Given the description of an element on the screen output the (x, y) to click on. 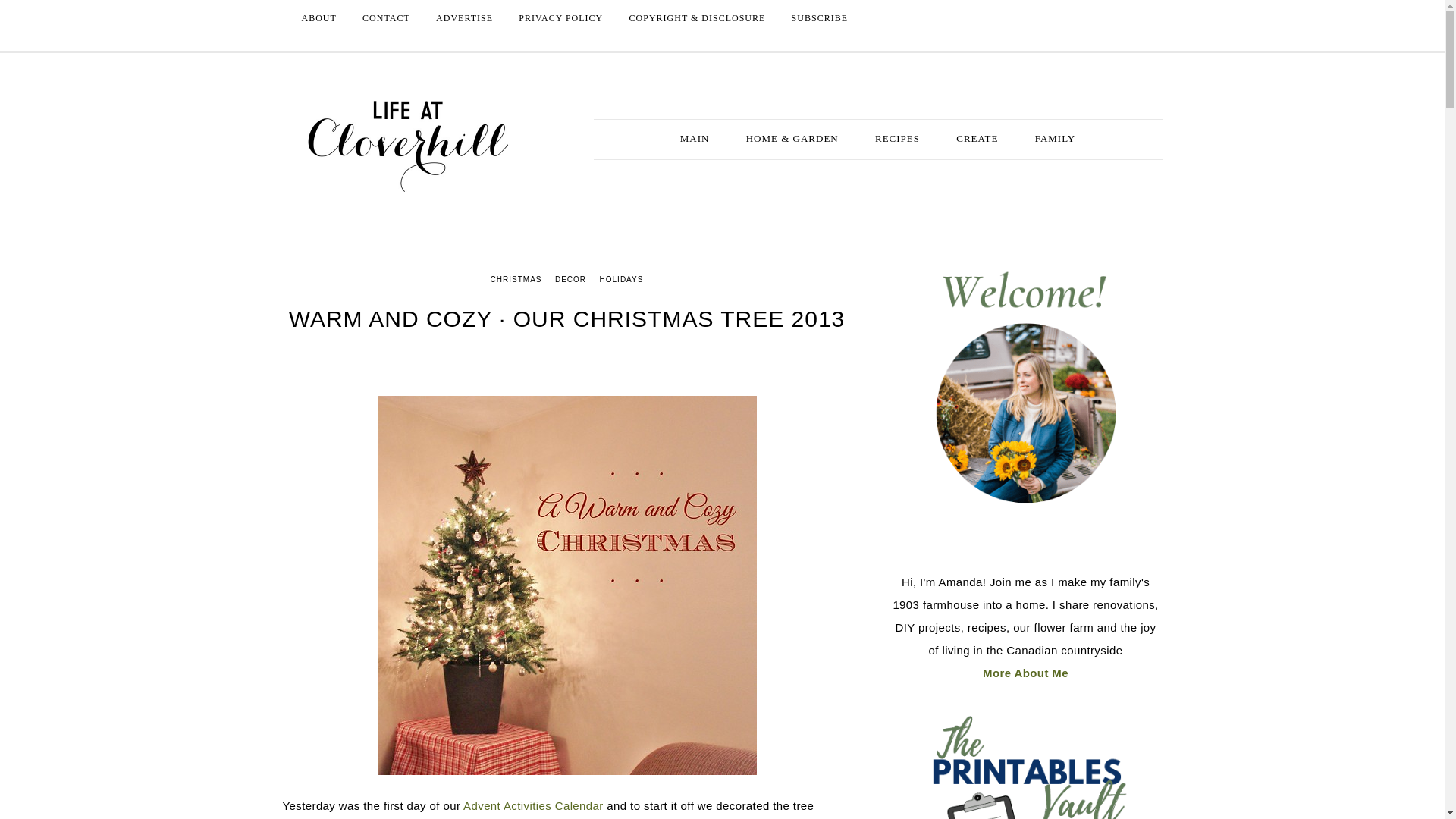
HOLIDAYS (621, 279)
LIFE AT CLOVERHILL (407, 146)
ADVERTISE (464, 18)
MAIN (694, 138)
ABOUT (318, 18)
FAMILY (1055, 138)
CREATE (976, 138)
CONTACT (386, 18)
CHRISTMAS (515, 279)
RECIPES (897, 138)
